Given the description of an element on the screen output the (x, y) to click on. 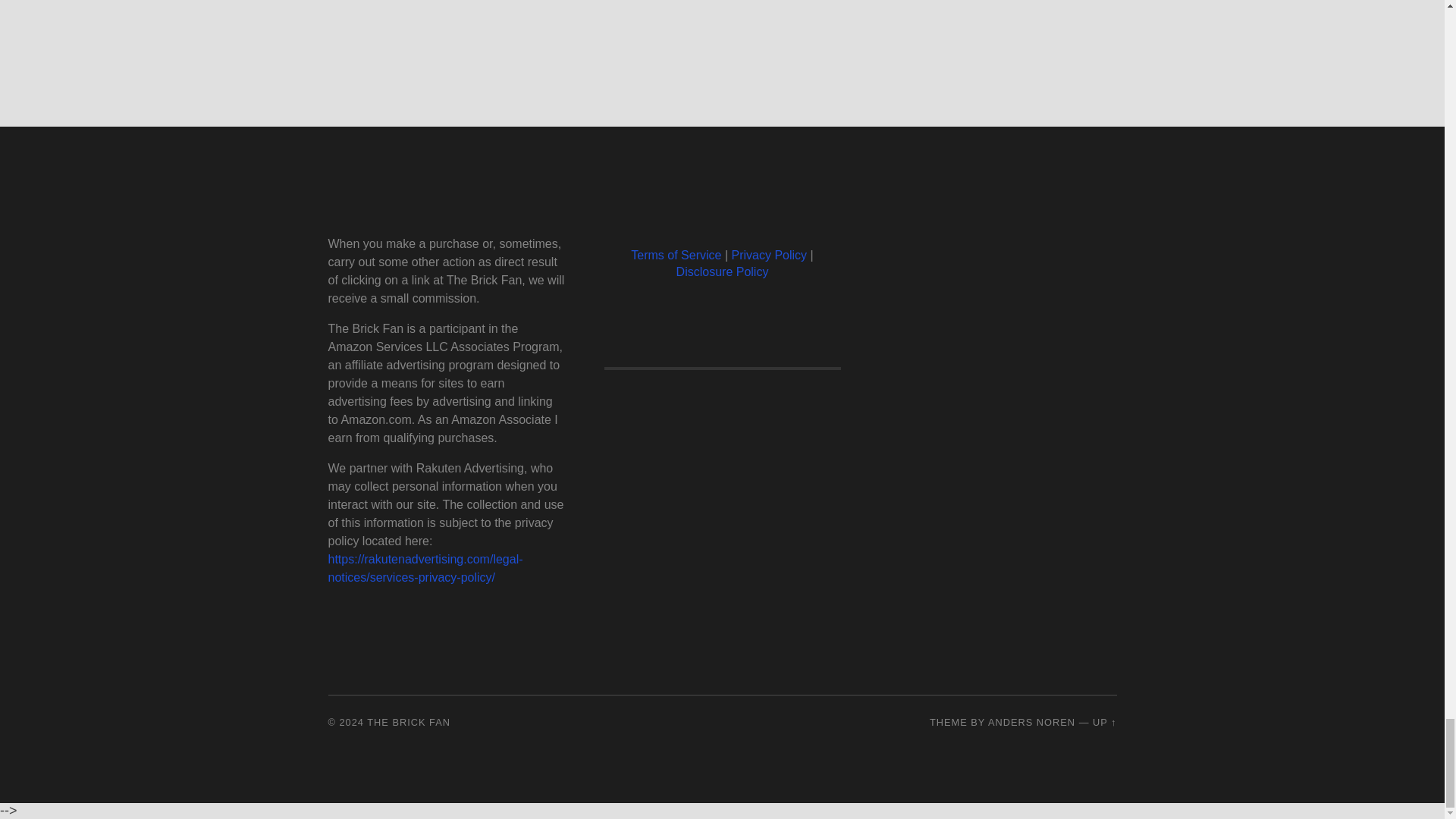
To the top (1104, 722)
